Given the description of an element on the screen output the (x, y) to click on. 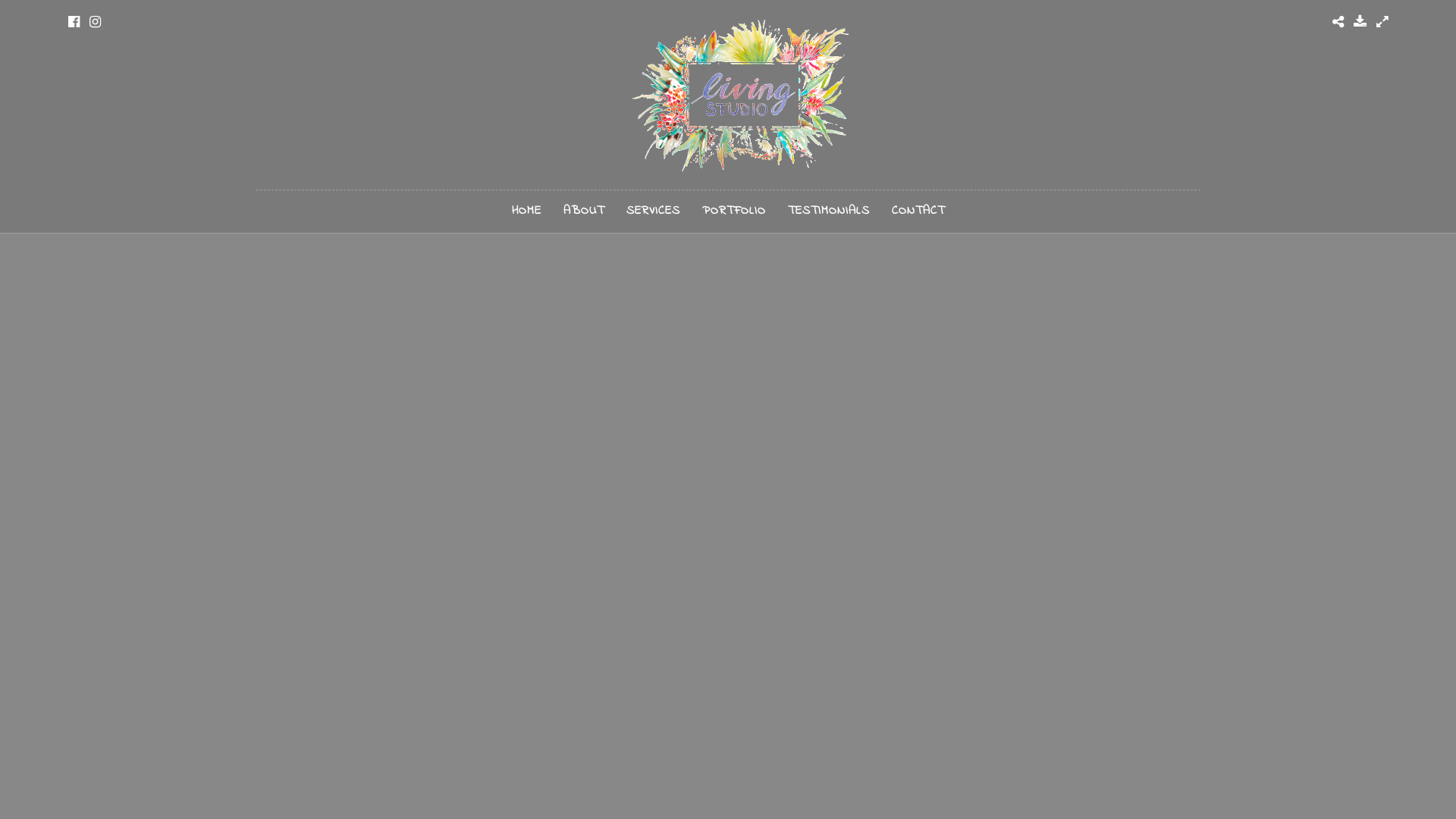
SERVICES Element type: text (652, 211)
TESTIMONIALS Element type: text (828, 211)
Instagram Element type: hover (94, 21)
CONTACT Element type: text (917, 211)
PORTFOLIO Element type: text (733, 211)
ABOUT Element type: text (583, 211)
HOME Element type: text (526, 211)
